Given the description of an element on the screen output the (x, y) to click on. 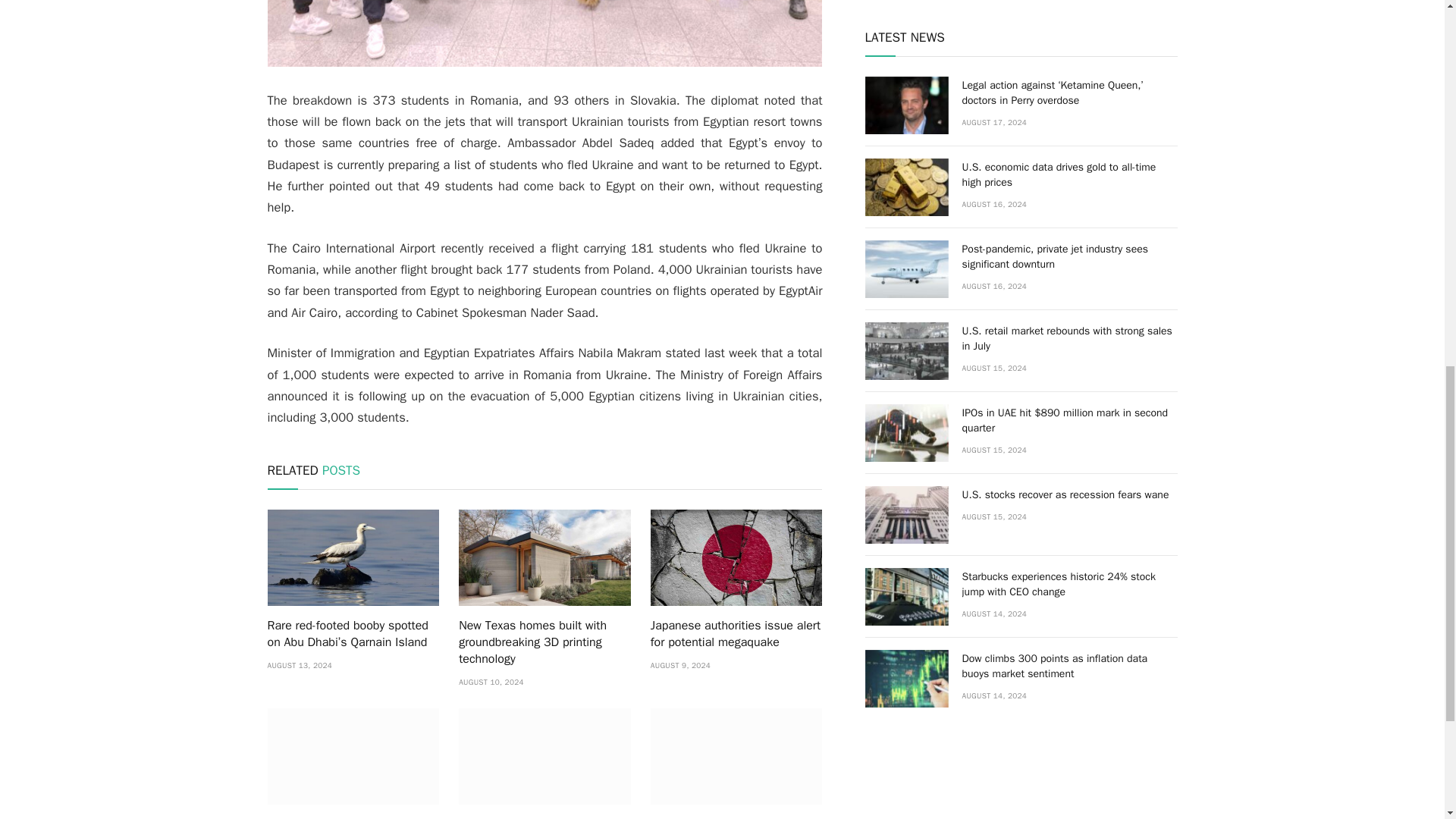
Japanese authorities issue alert for potential megaquake (736, 634)
TikTok faces strict EU compliance with DSA ruling (352, 817)
